Given the description of an element on the screen output the (x, y) to click on. 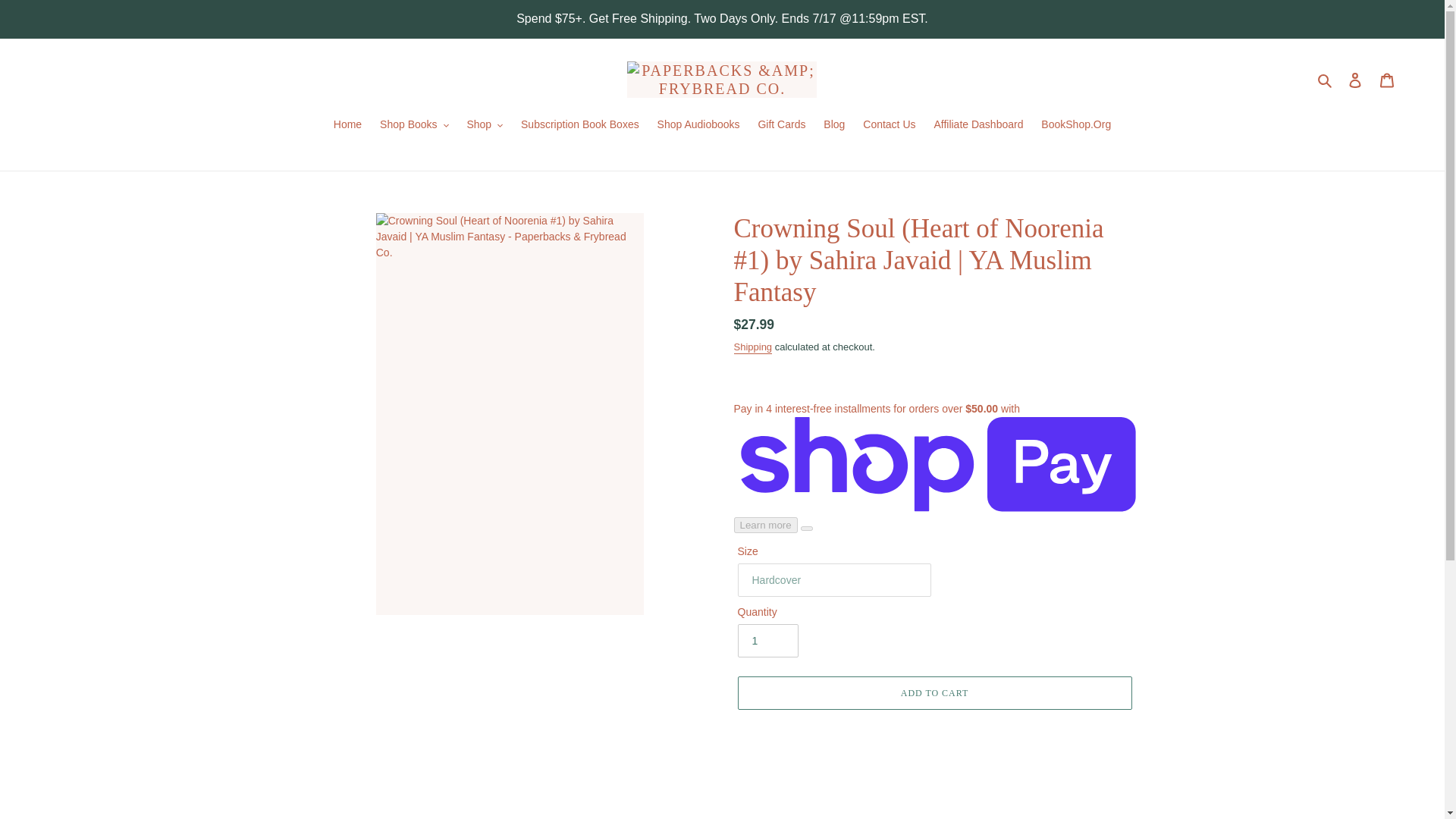
Log in (1355, 79)
1 (766, 640)
Cart (1387, 79)
Search (1326, 78)
